Given the description of an element on the screen output the (x, y) to click on. 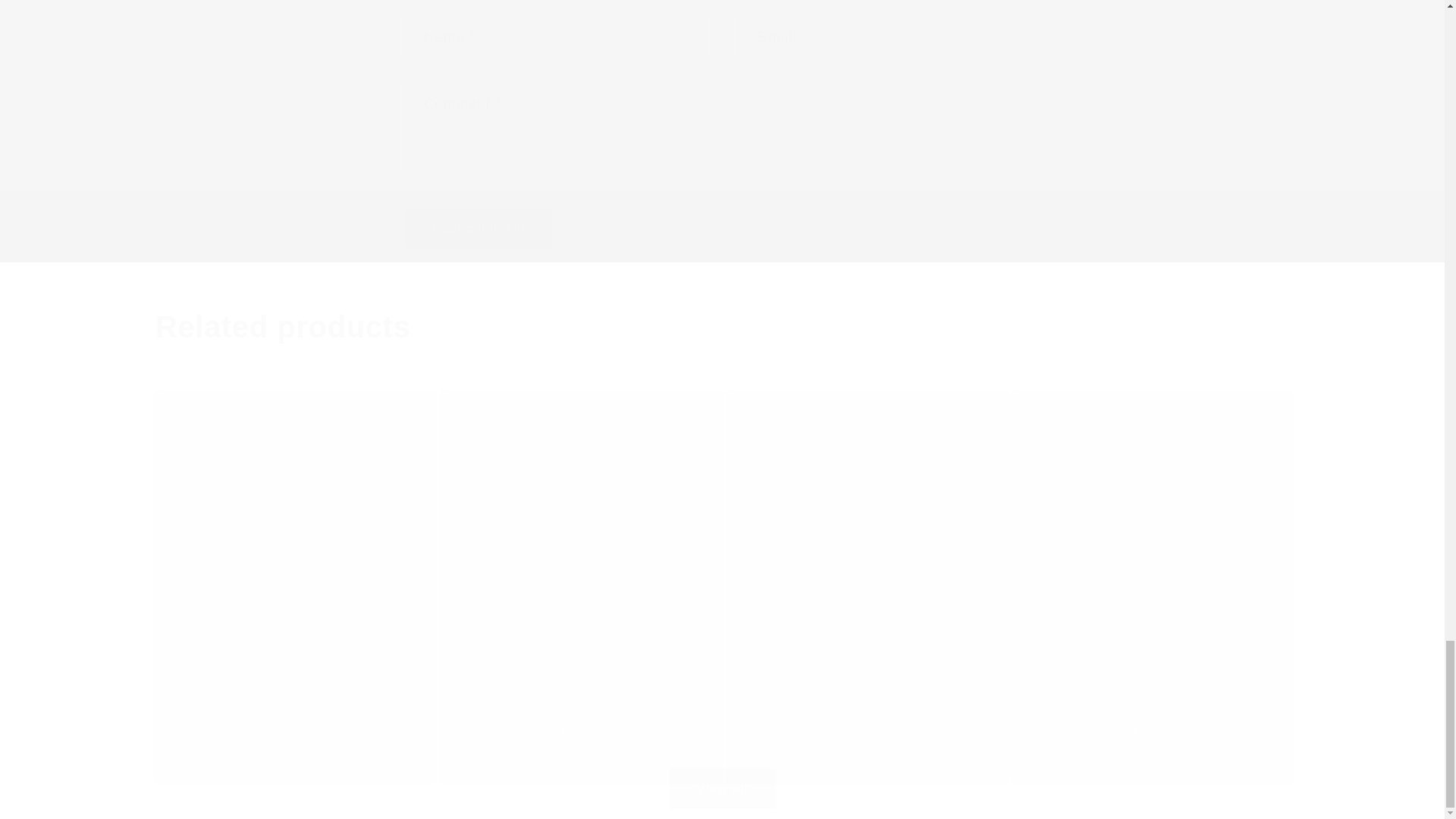
Post comment (478, 228)
Related products (721, 326)
